Given the description of an element on the screen output the (x, y) to click on. 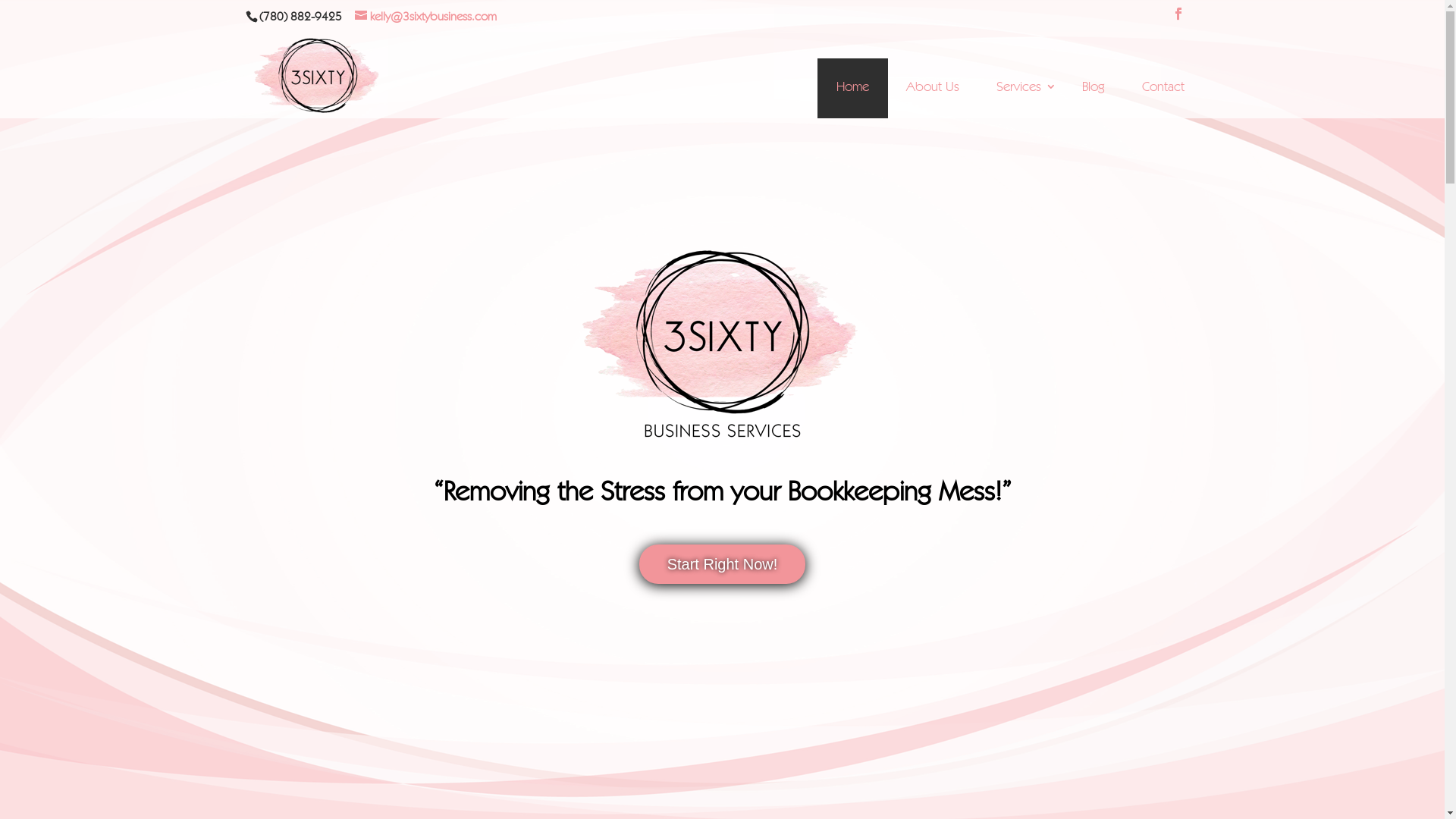
Blog Element type: text (1093, 88)
Home Element type: text (852, 88)
Services Element type: text (1019, 88)
kelly@3sixtybusiness.com Element type: text (425, 16)
Start Right Now! Element type: text (722, 563)
(780) 882-9425 Element type: text (298, 16)
About Us Element type: text (932, 88)
Contact Element type: text (1162, 88)
